Given the description of an element on the screen output the (x, y) to click on. 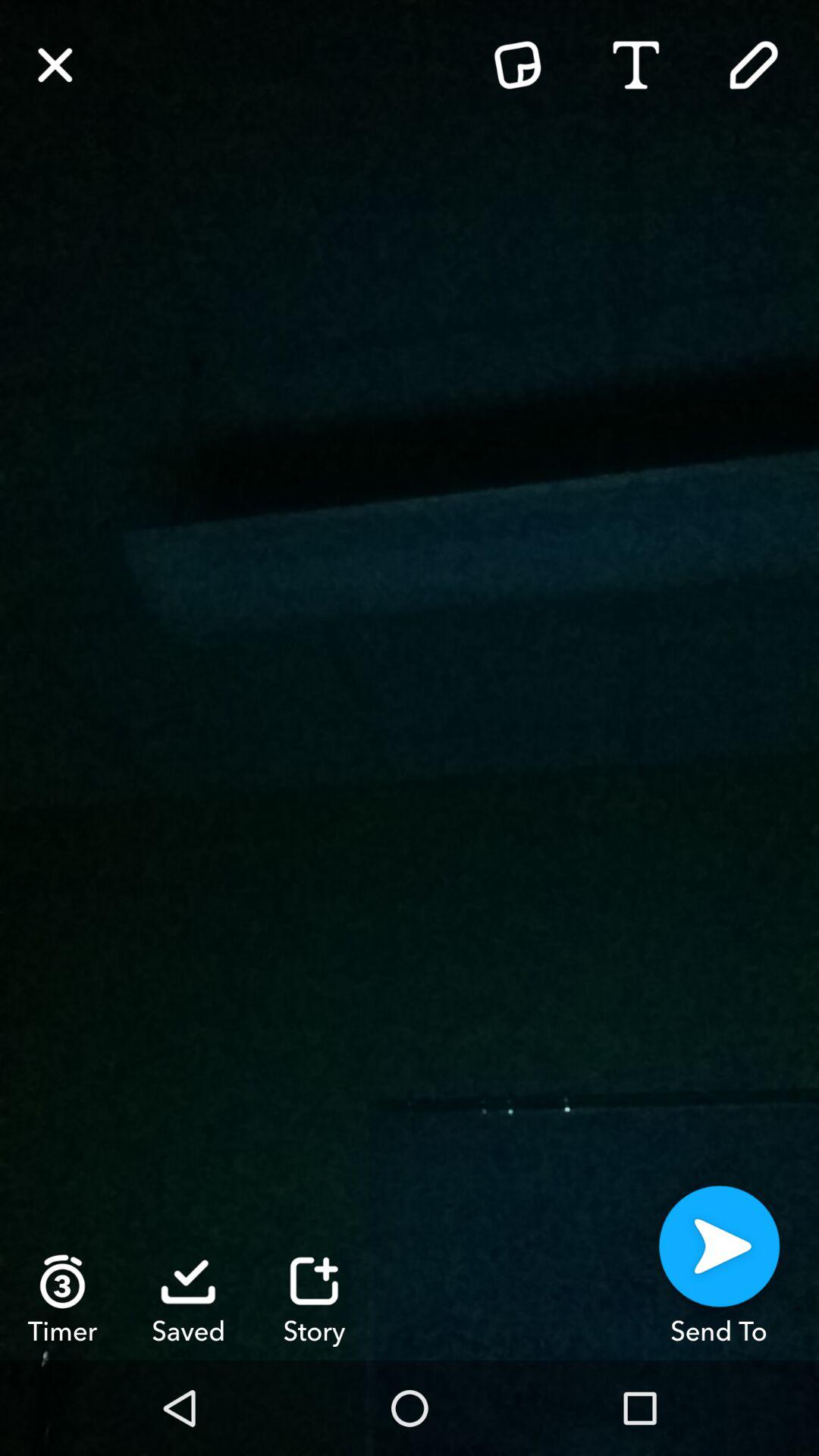
click on text button which is at top right second button (635, 64)
